Given the description of an element on the screen output the (x, y) to click on. 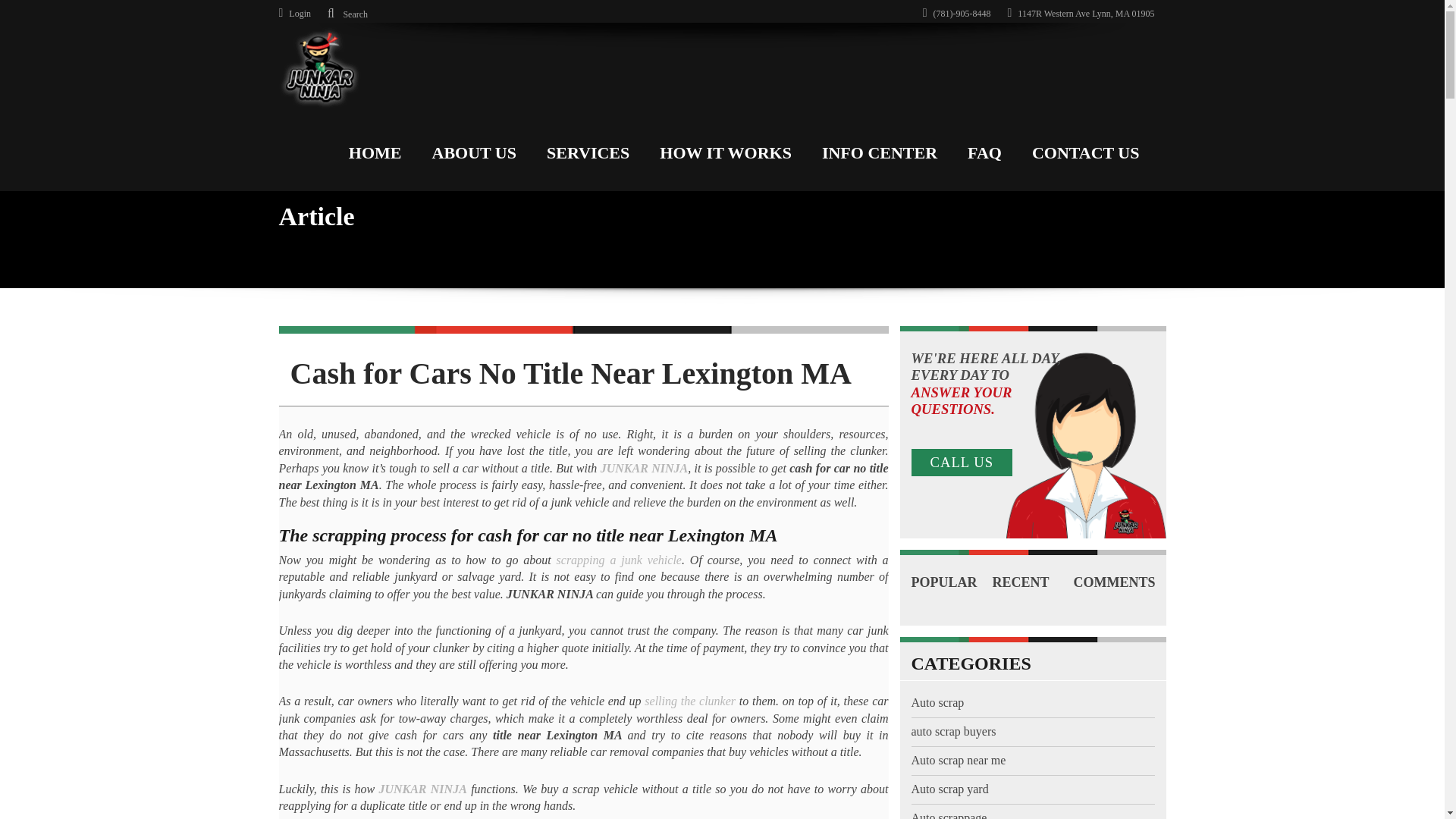
INFO CENTER (879, 149)
selling the clunker (690, 700)
ABOUT US (473, 149)
Auto scrap yard (949, 788)
scrapping a junk vehicle (618, 559)
Auto scrap (937, 702)
RECENT (1032, 582)
auto scrap buyers (953, 730)
JUNKAR NINJA (421, 788)
POPULAR (951, 582)
